Given the description of an element on the screen output the (x, y) to click on. 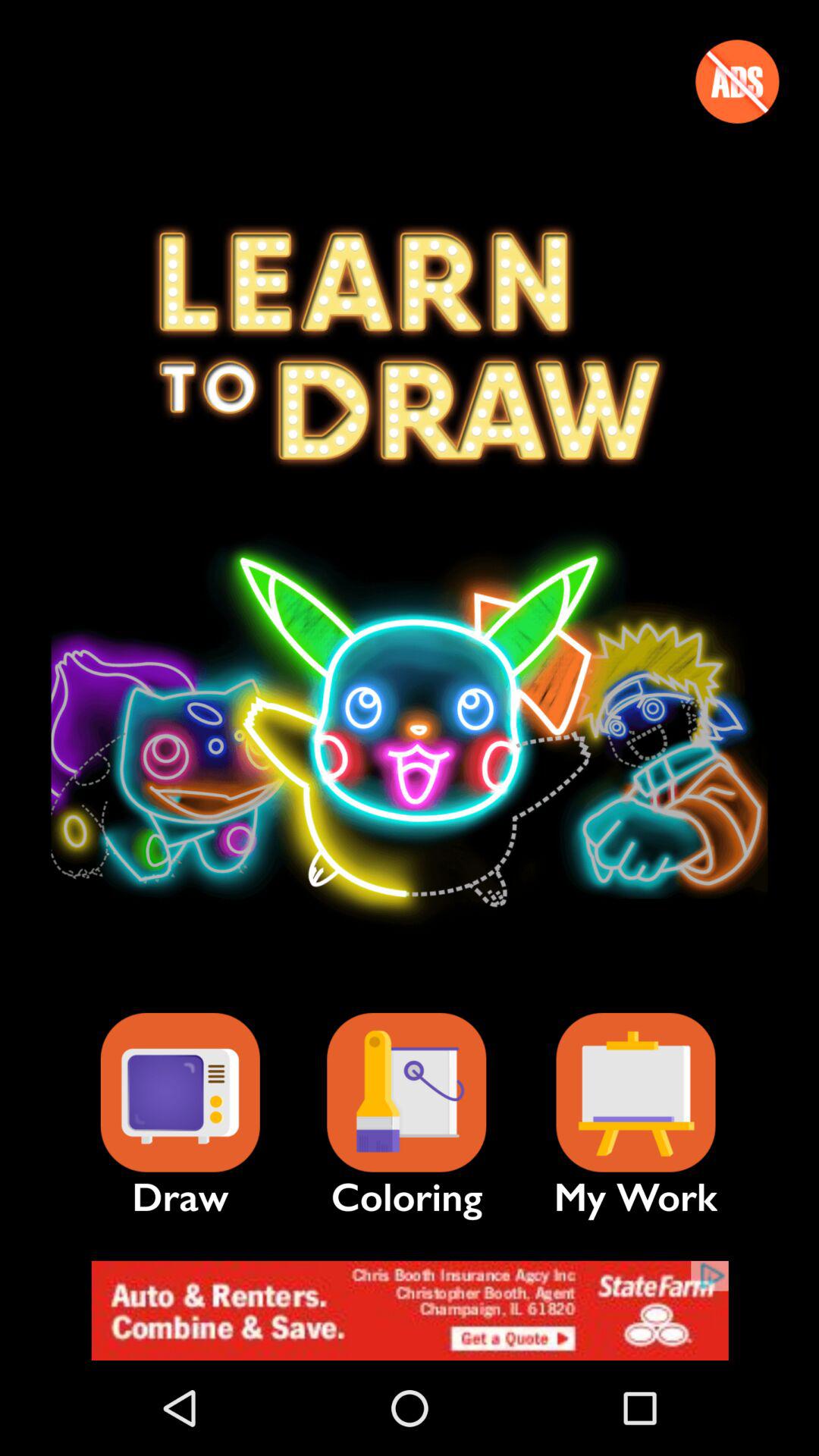
choose icon next to the my work (406, 1092)
